Given the description of an element on the screen output the (x, y) to click on. 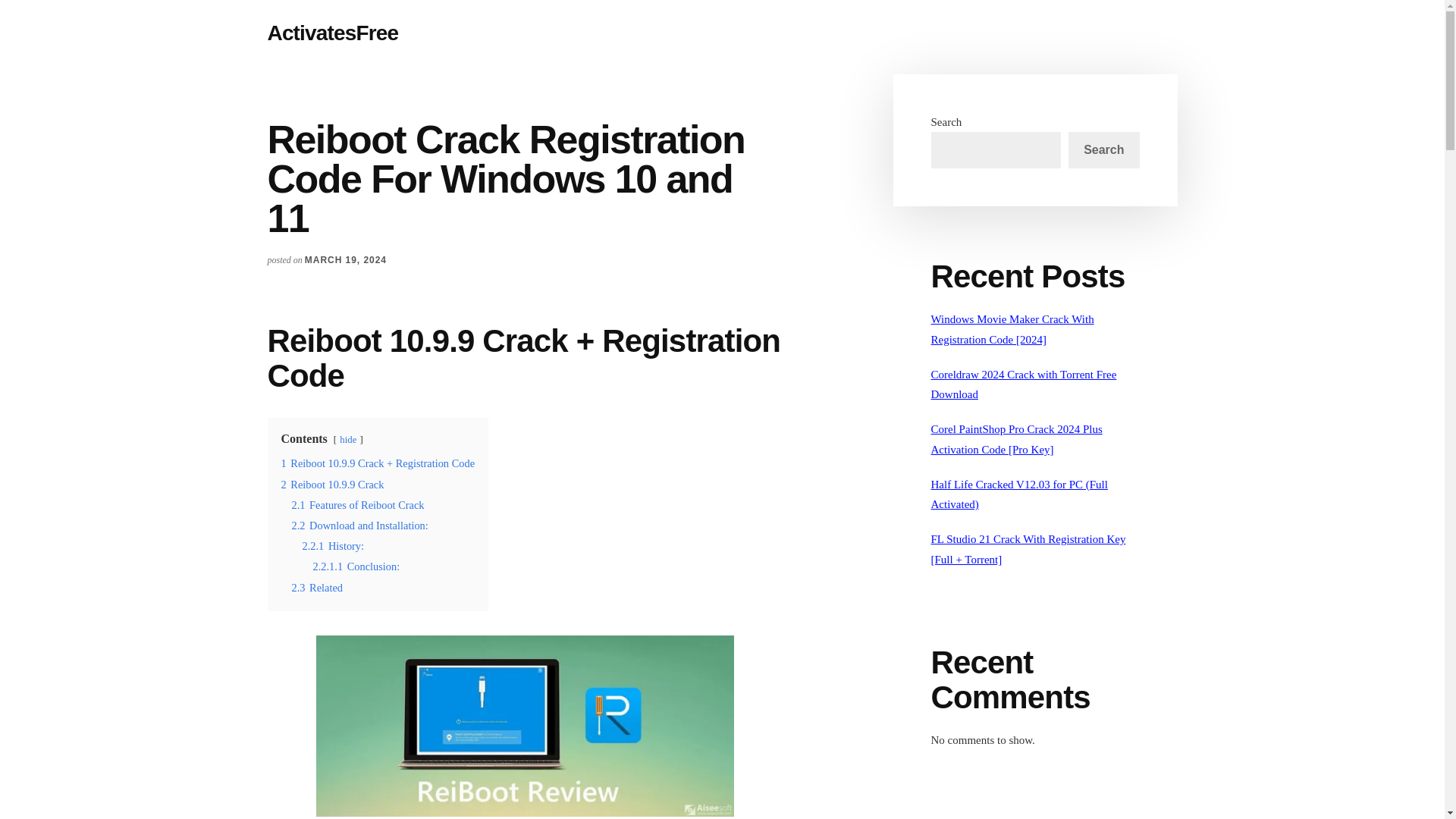
2 Reiboot 10.9.9 Crack (332, 484)
2.2 Download and Installation: (359, 525)
hide (347, 439)
ActivatesFree (331, 33)
Coreldraw 2024 Crack with Torrent Free Download (1023, 384)
2.2.1 History: (332, 545)
2.1 Features of Reiboot Crack (357, 504)
2.3 Related (316, 587)
Search (1103, 149)
2.2.1.1 Conclusion: (355, 566)
